Given the description of an element on the screen output the (x, y) to click on. 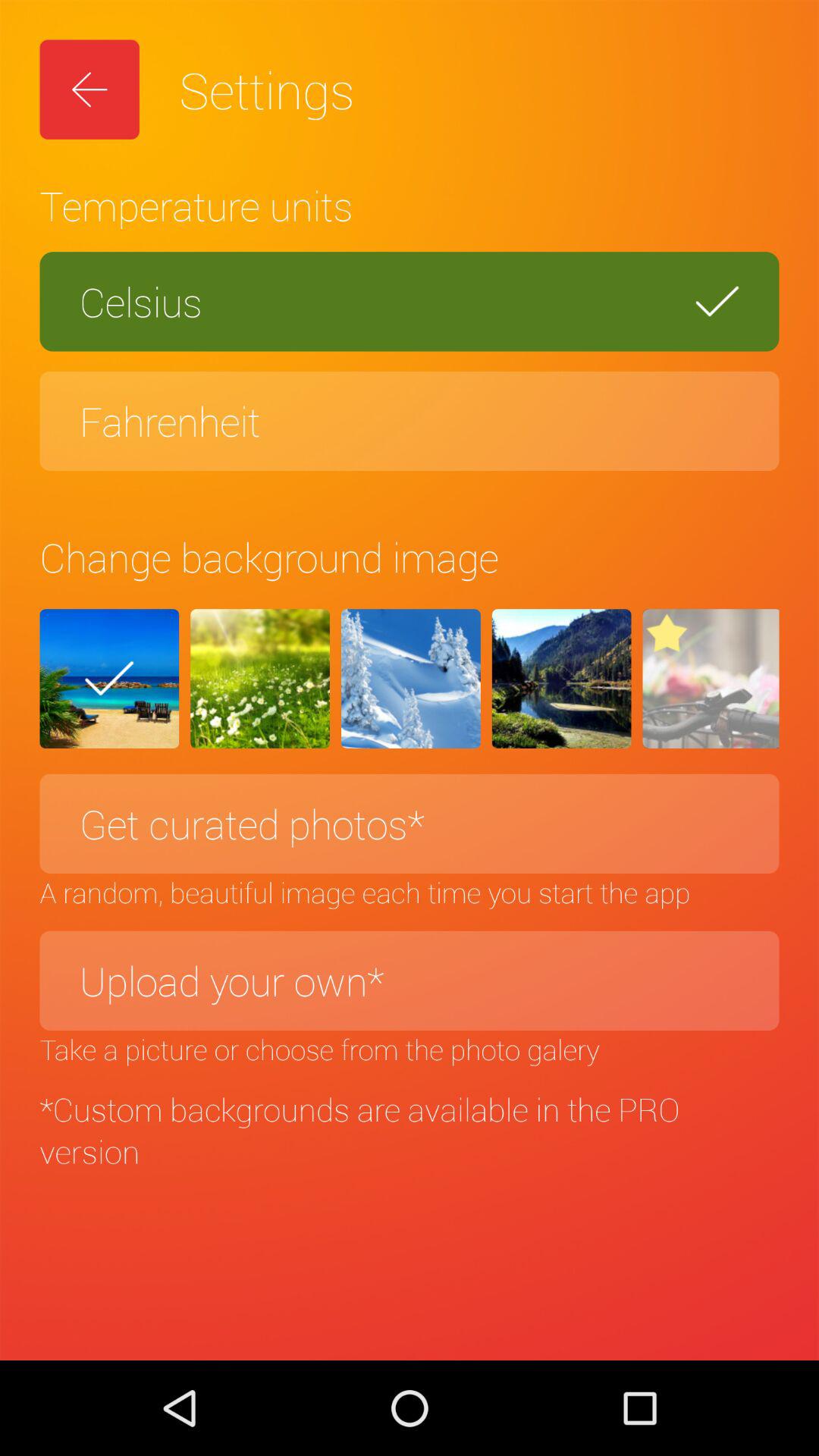
select the item below change background image (561, 678)
